Given the description of an element on the screen output the (x, y) to click on. 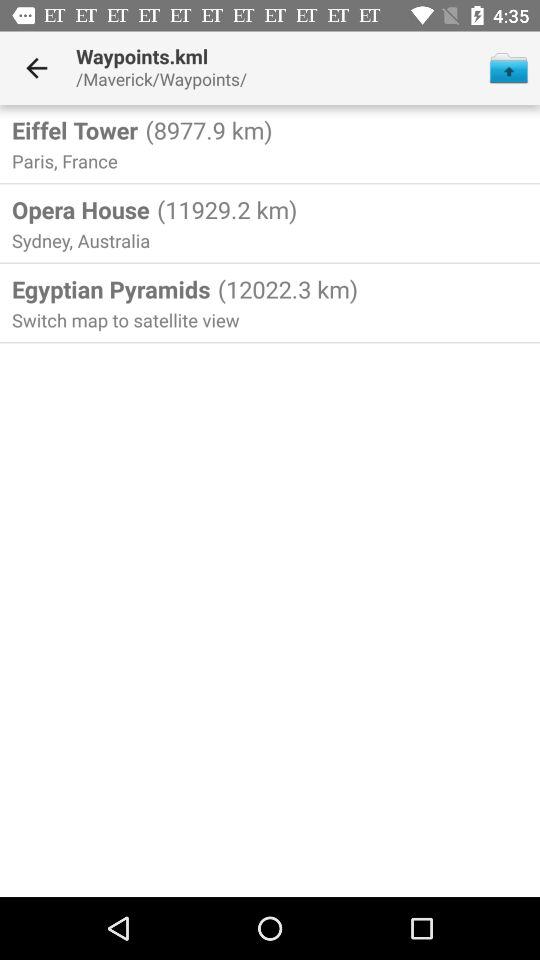
press the item below /maverick/waypoints/ icon (205, 130)
